Given the description of an element on the screen output the (x, y) to click on. 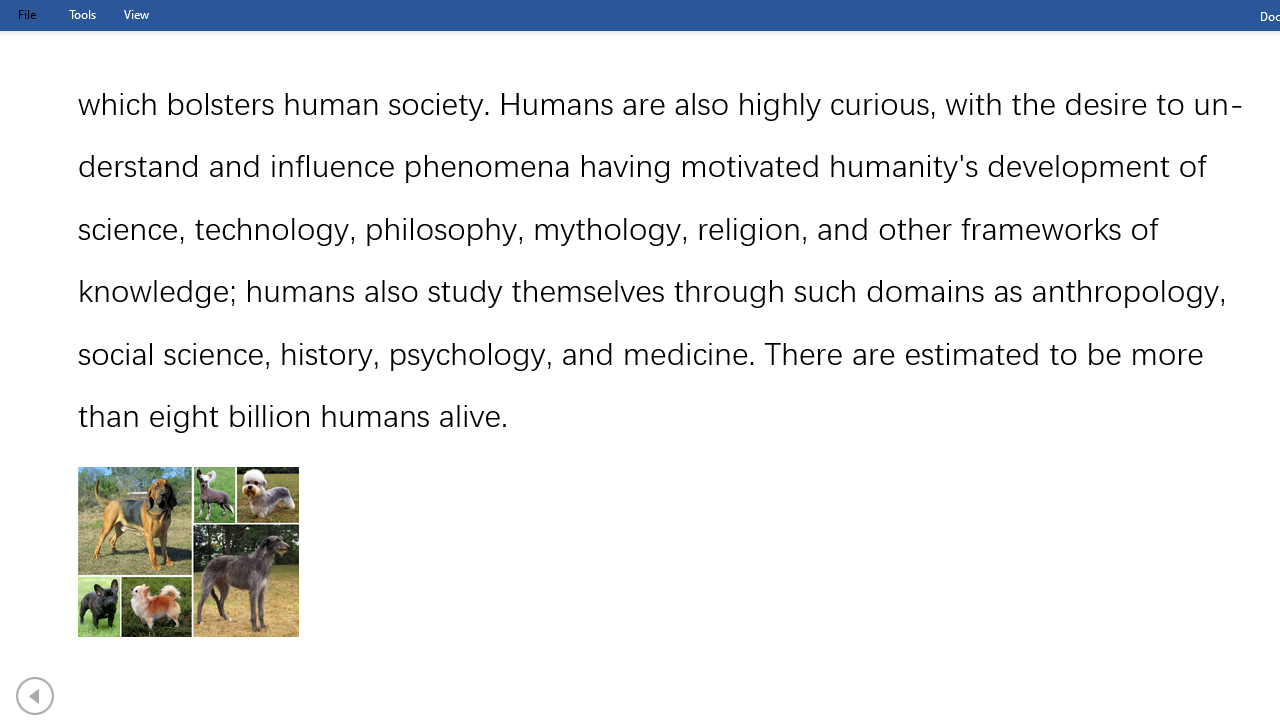
Tools (82, 14)
Morphological variation in six dogs (188, 552)
